Given the description of an element on the screen output the (x, y) to click on. 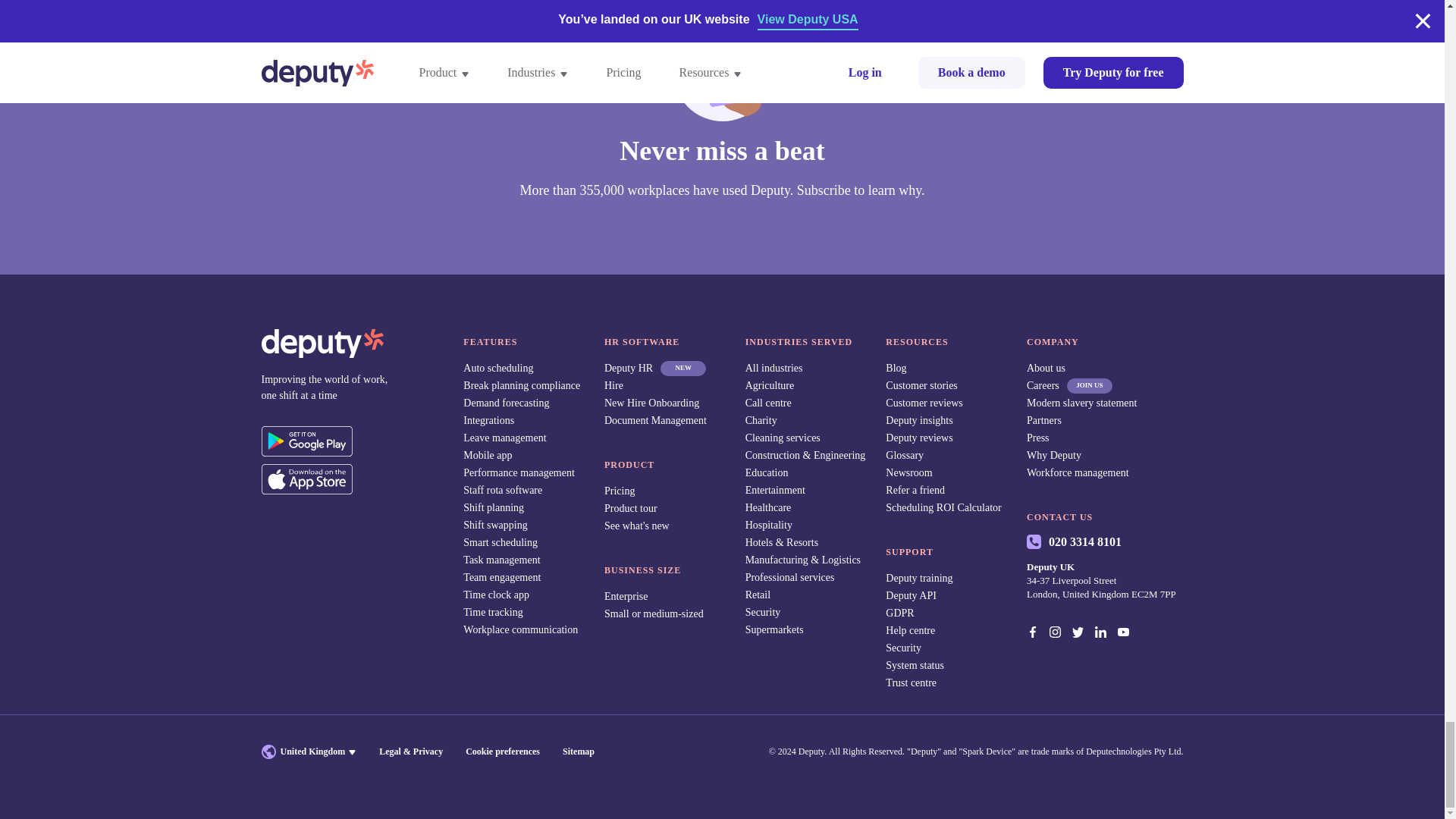
Instagram (1056, 631)
Youtube (1125, 631)
Linkedin (1101, 631)
Twitter (1079, 631)
Facebook (1034, 631)
